Given the description of an element on the screen output the (x, y) to click on. 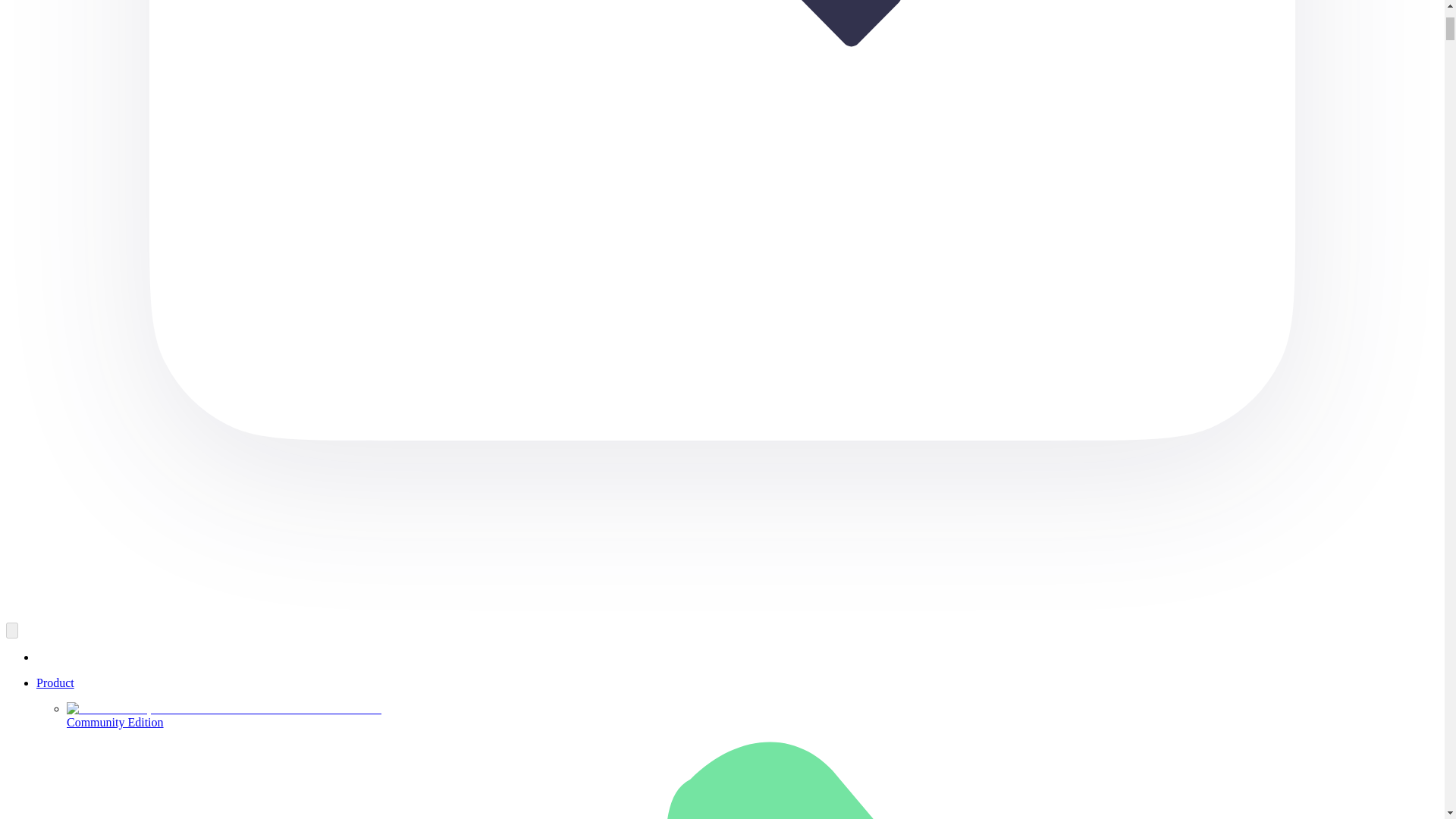
Product (55, 682)
